Given the description of an element on the screen output the (x, y) to click on. 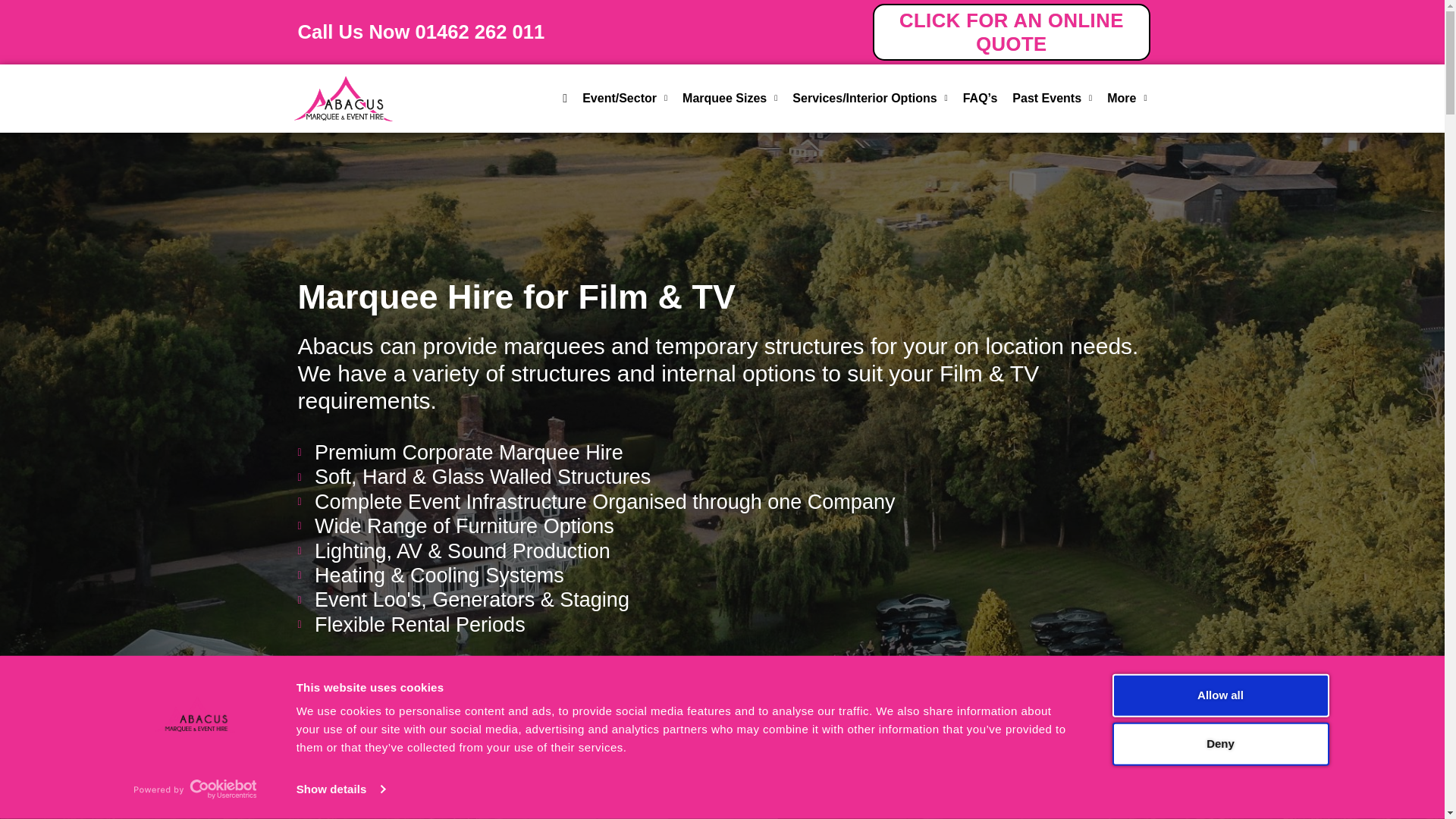
Show details (340, 789)
